Given the description of an element on the screen output the (x, y) to click on. 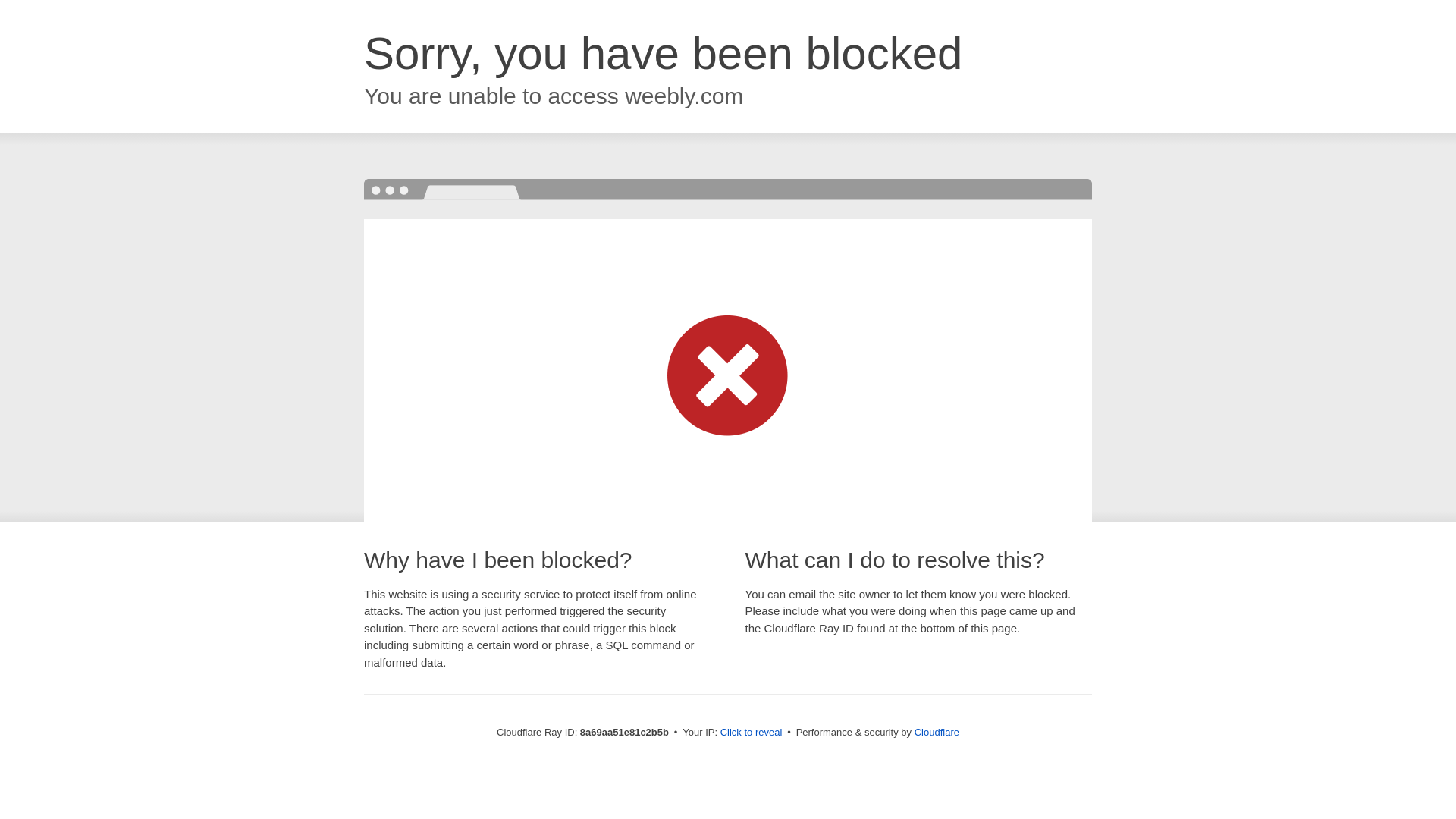
Cloudflare (936, 731)
Click to reveal (751, 732)
